Given the description of an element on the screen output the (x, y) to click on. 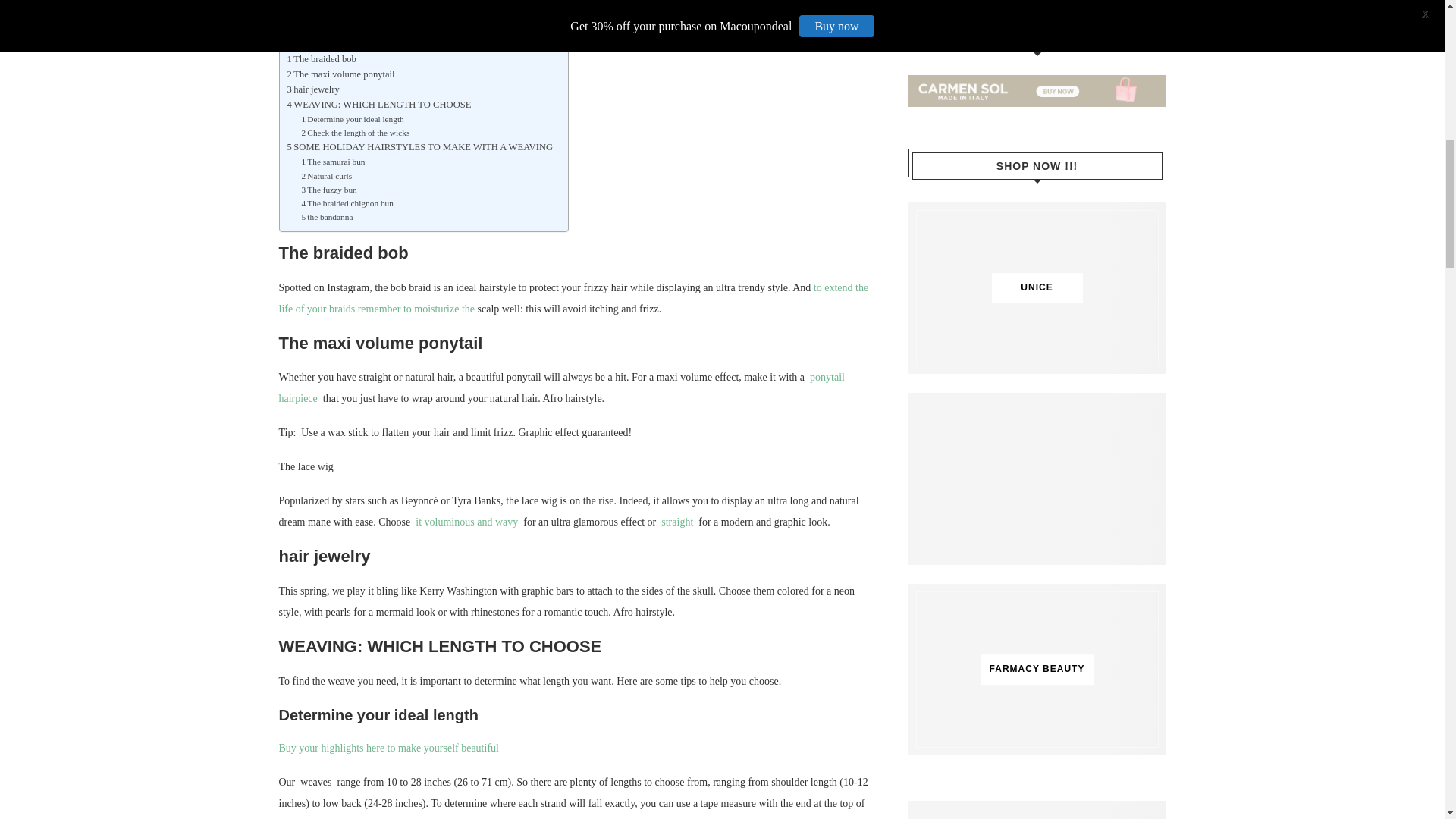
SOME HOLIDAY HAIRSTYLES TO MAKE WITH A WEAVING (419, 146)
hair jewelry (312, 89)
The fuzzy bun (328, 189)
WEAVING: WHICH LENGTH TO CHOOSE (378, 104)
Determine your ideal length (352, 119)
The samurai bun (333, 161)
Natural curls (326, 175)
The braided chignon bun (347, 202)
the bandanna (326, 216)
Check the length of the wicks (355, 132)
The braided bob (320, 58)
The maxi volume ponytail (340, 73)
